Given the description of an element on the screen output the (x, y) to click on. 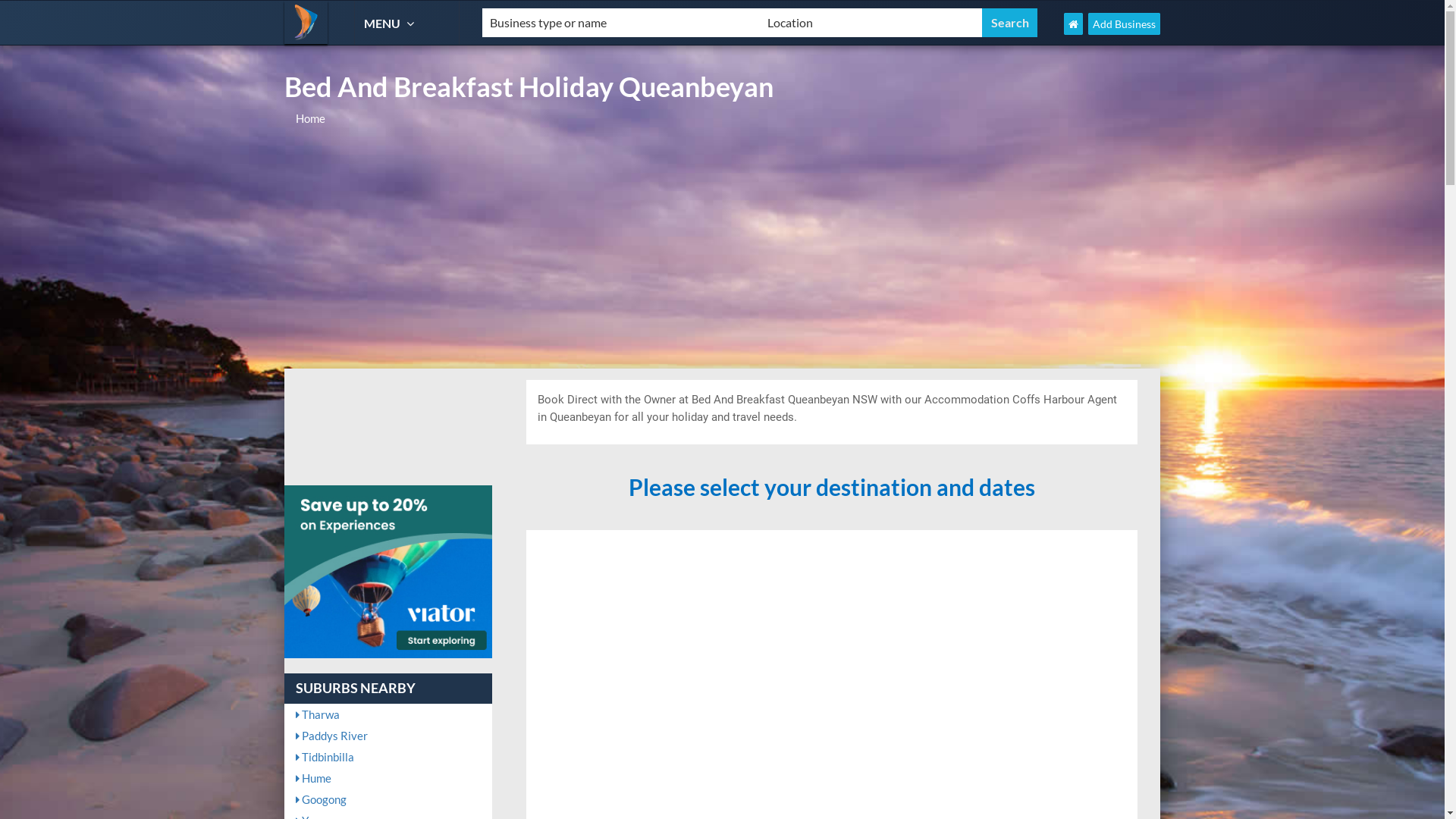
Hume Element type: text (388, 777)
MENU Element type: text (390, 22)
Tidbinbilla Element type: text (388, 756)
Paddys River Element type: text (388, 735)
Accommodation Coffs Harbour Element type: hover (305, 21)
Advertisement Element type: hover (722, 254)
Search Element type: text (1009, 22)
Googong Element type: text (388, 798)
Home Element type: text (310, 118)
Tharwa Element type: text (388, 713)
Accommodation Coffs Harbour Home Page Element type: hover (1072, 23)
Add Business Element type: text (1124, 23)
